Given the description of an element on the screen output the (x, y) to click on. 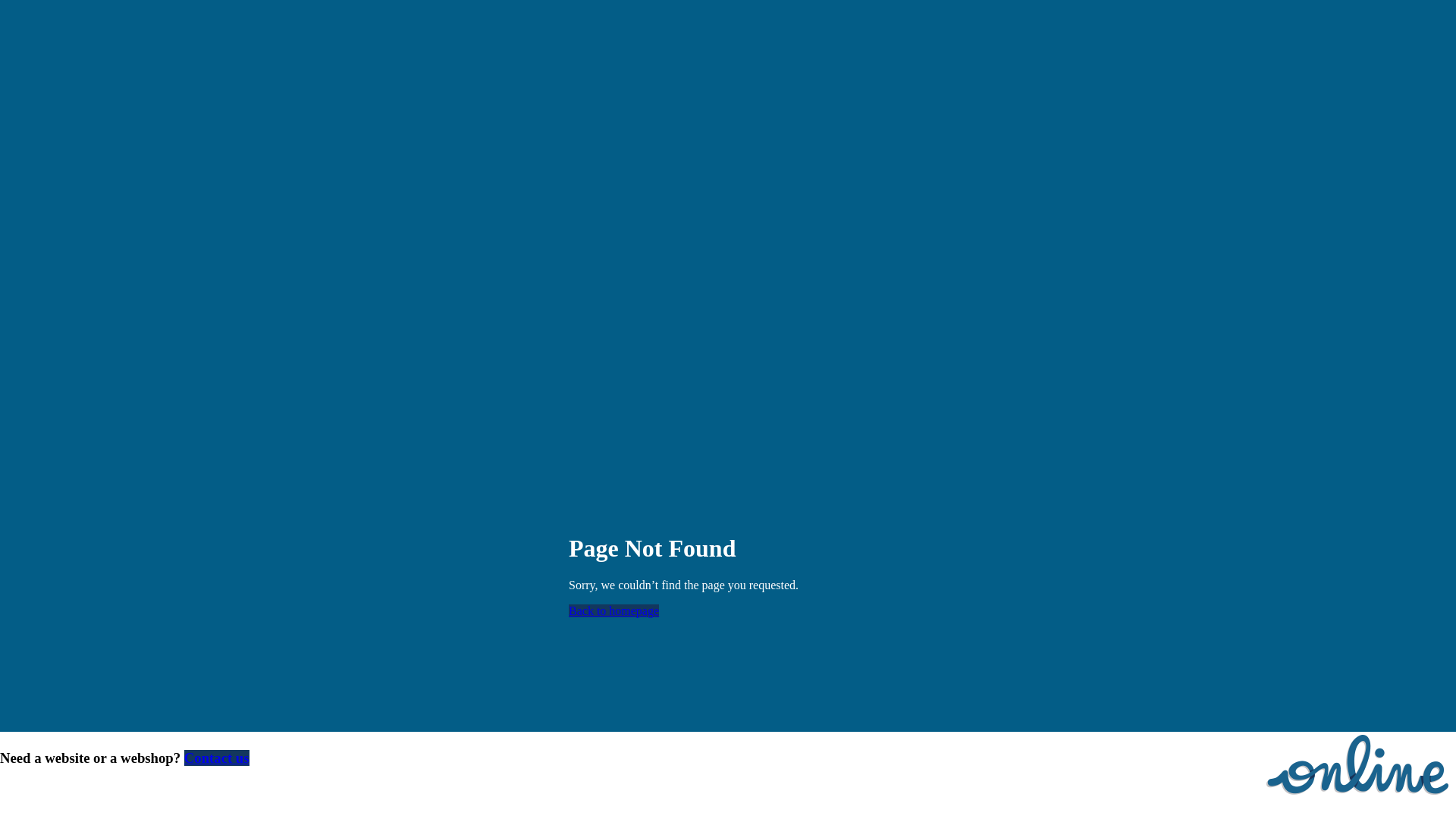
Back to homepage Element type: text (613, 610)
Contact us Element type: text (216, 757)
